Given the description of an element on the screen output the (x, y) to click on. 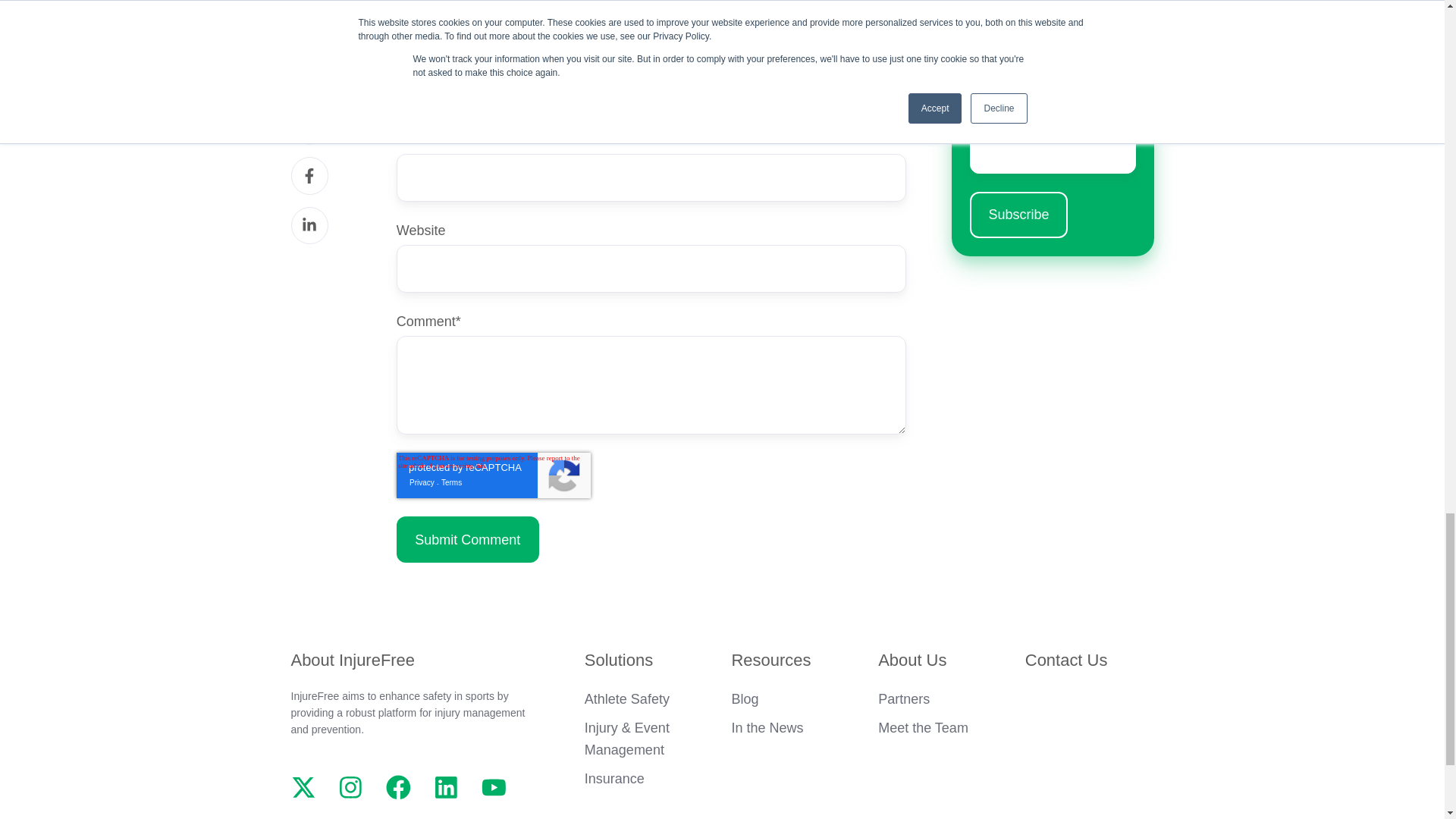
reCAPTCHA (493, 474)
Submit Comment (467, 539)
